Given the description of an element on the screen output the (x, y) to click on. 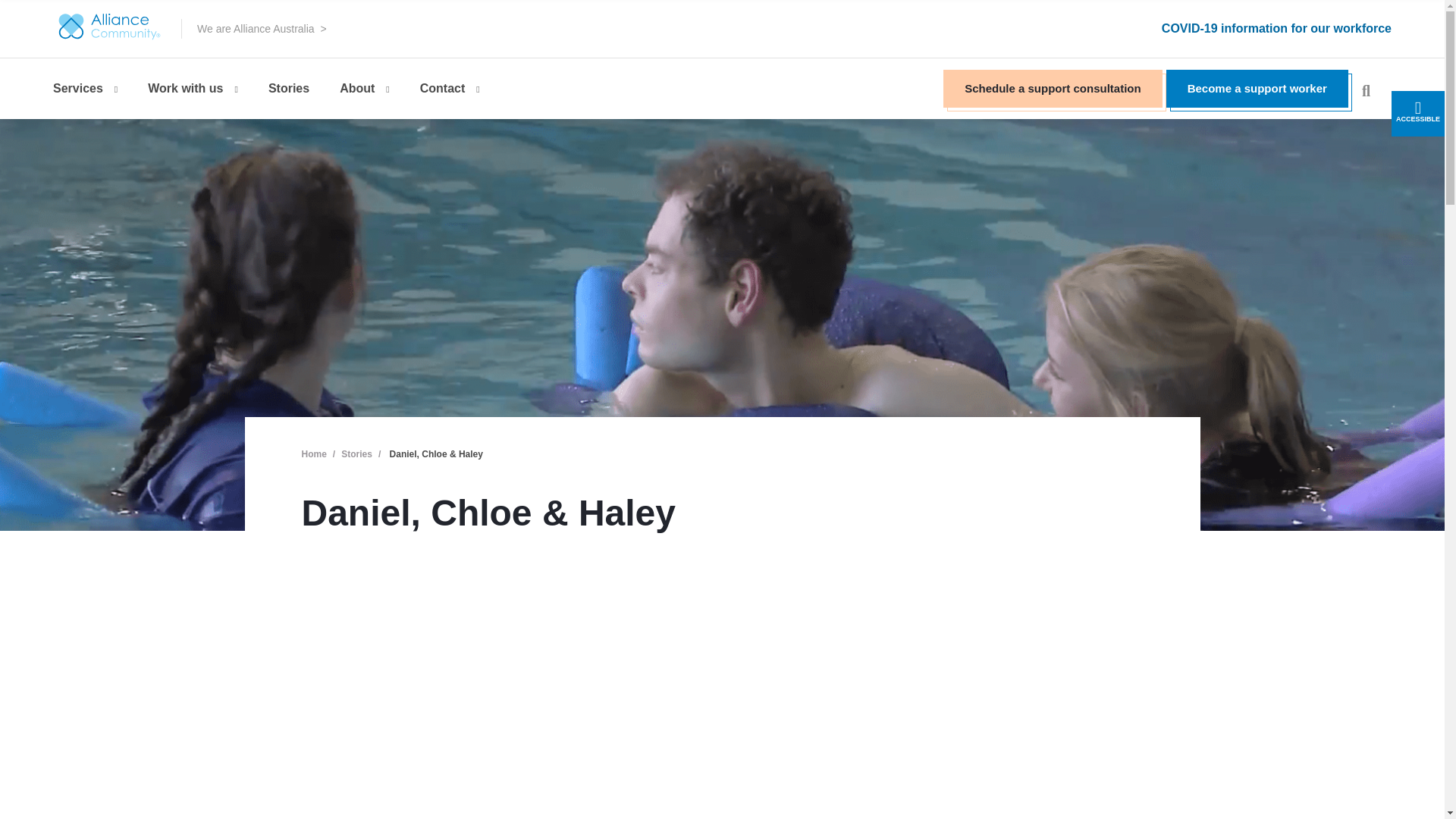
Work with us (192, 88)
Stories (288, 88)
COVID-19 information for our workforce (1276, 28)
Services (90, 88)
Stories (356, 453)
About (365, 88)
Become a support worker (1257, 88)
Schedule a support consultation (1052, 88)
Contact (450, 88)
